Given the description of an element on the screen output the (x, y) to click on. 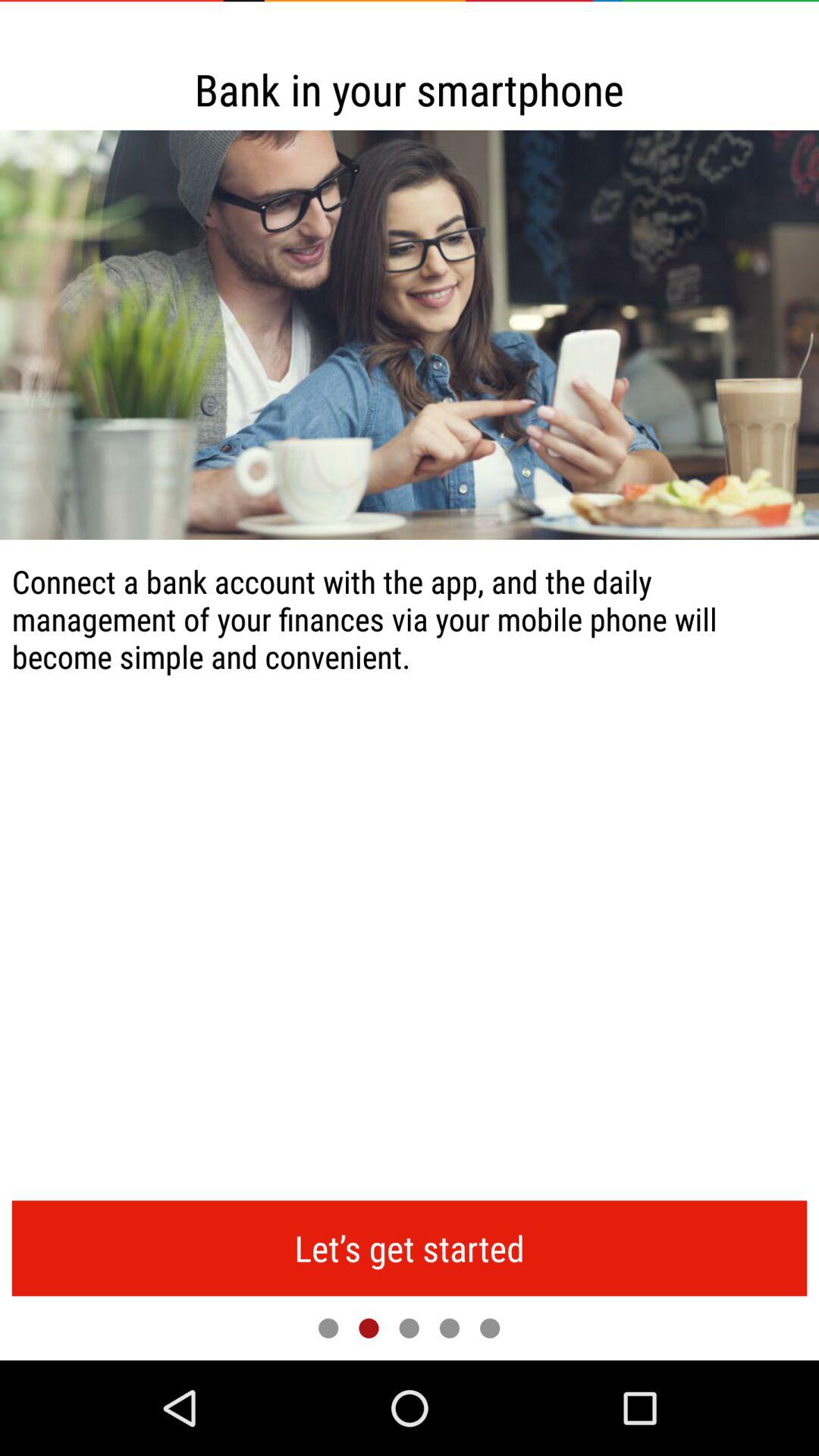
change tab (489, 1328)
